Given the description of an element on the screen output the (x, y) to click on. 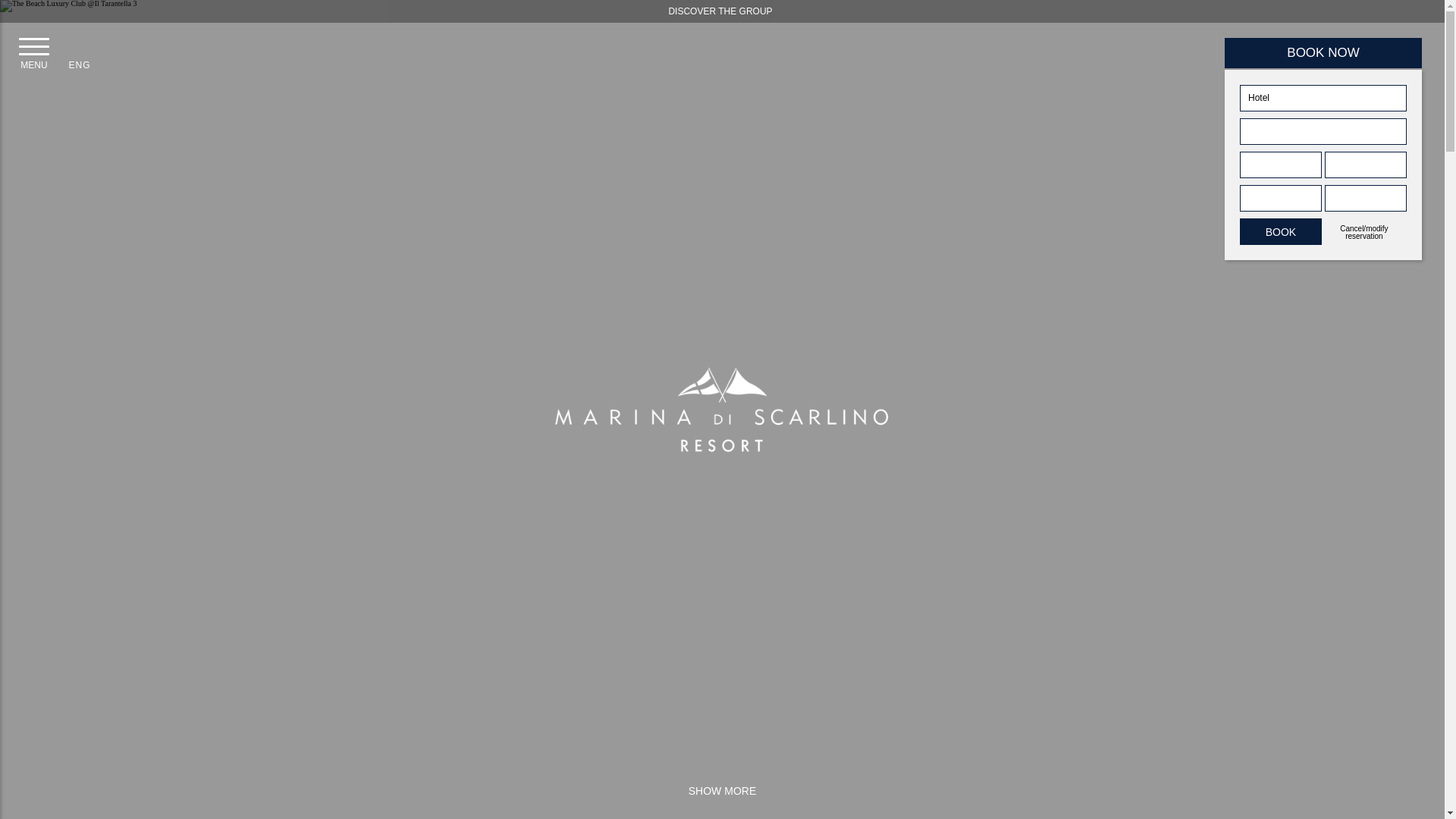
Book (1281, 231)
